Given the description of an element on the screen output the (x, y) to click on. 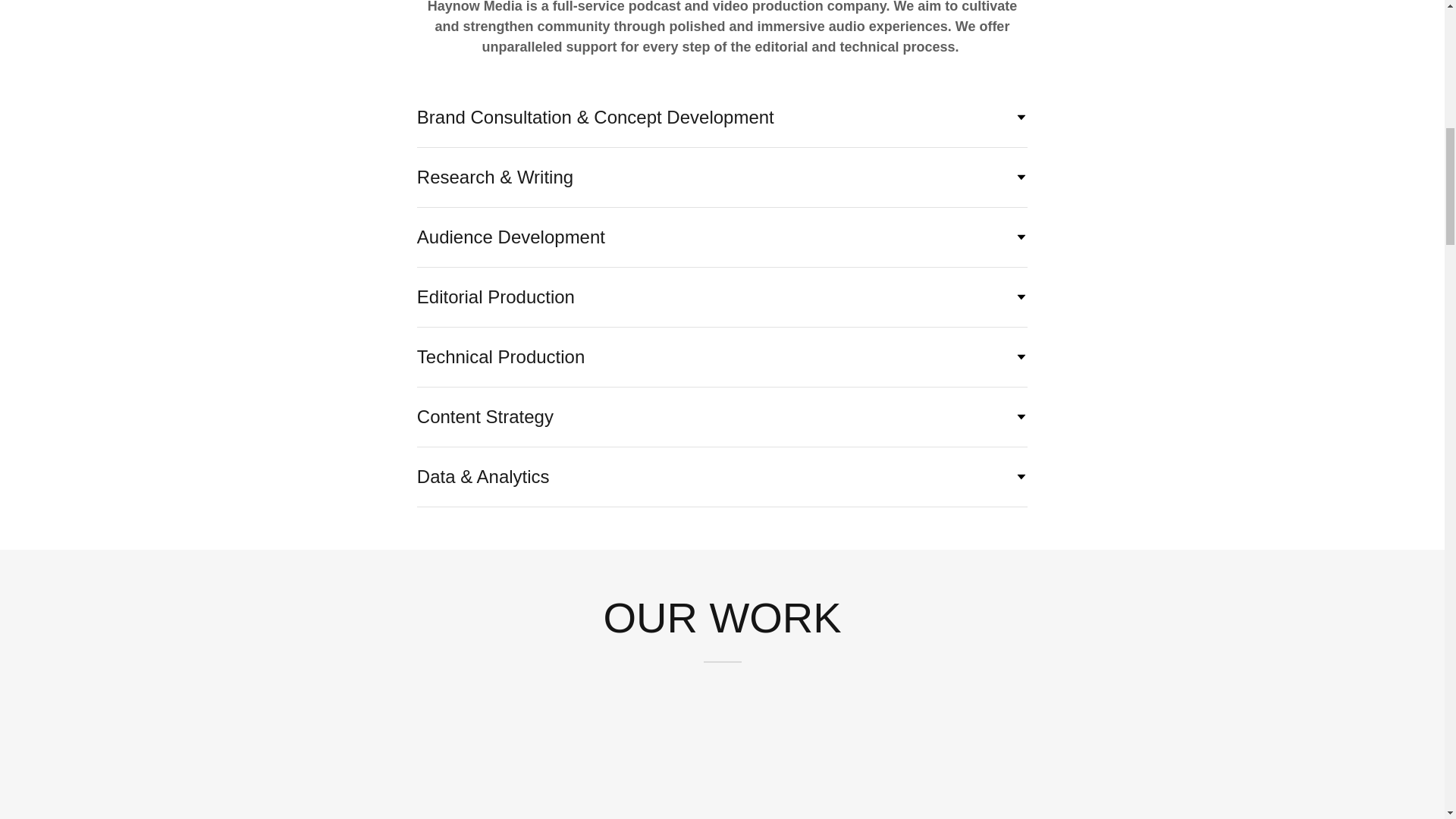
Audience Development (721, 237)
Technical Production (721, 356)
Content Strategy (721, 416)
Editorial Production (721, 297)
